Given the description of an element on the screen output the (x, y) to click on. 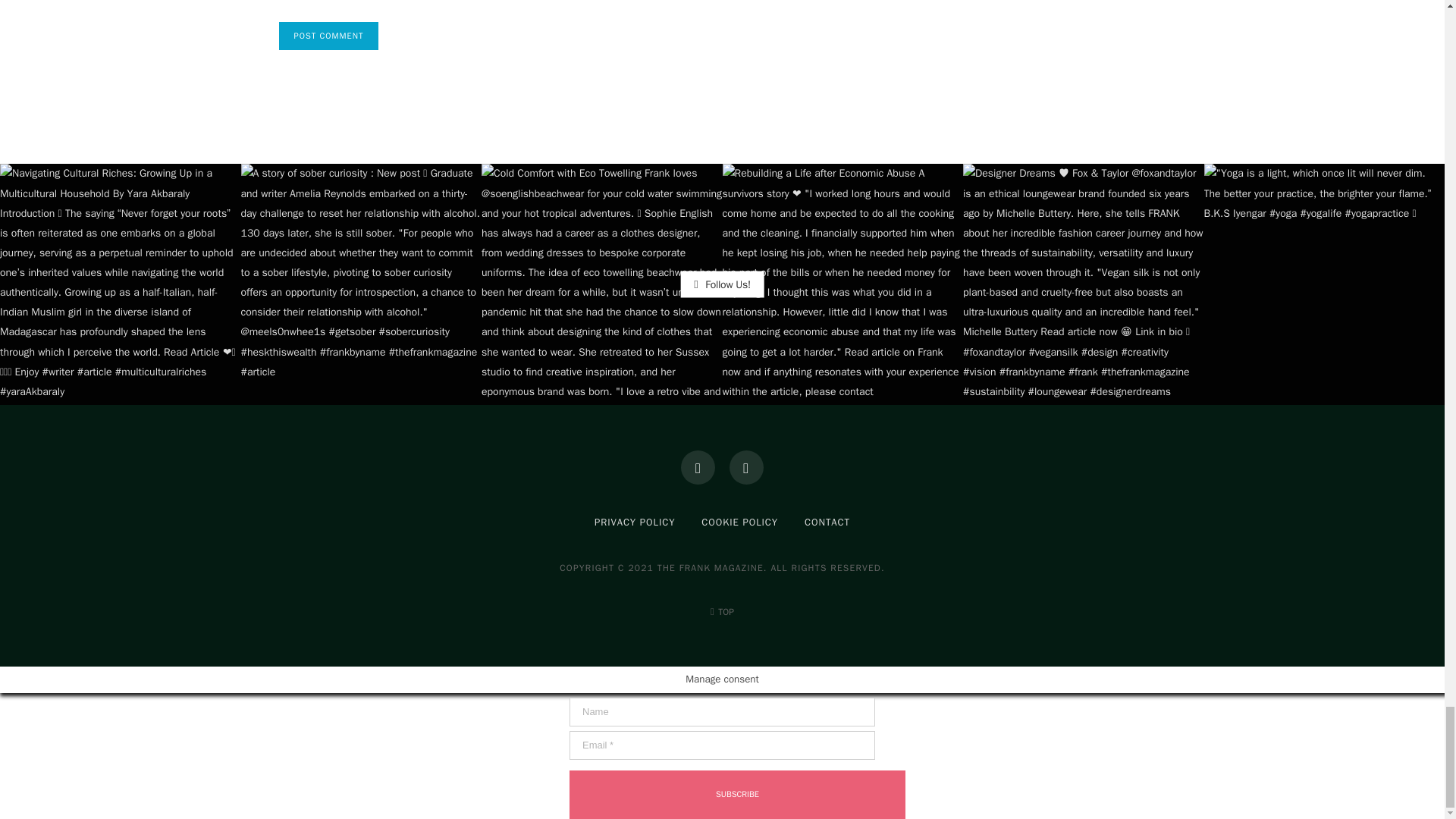
Post Comment (328, 35)
